Given the description of an element on the screen output the (x, y) to click on. 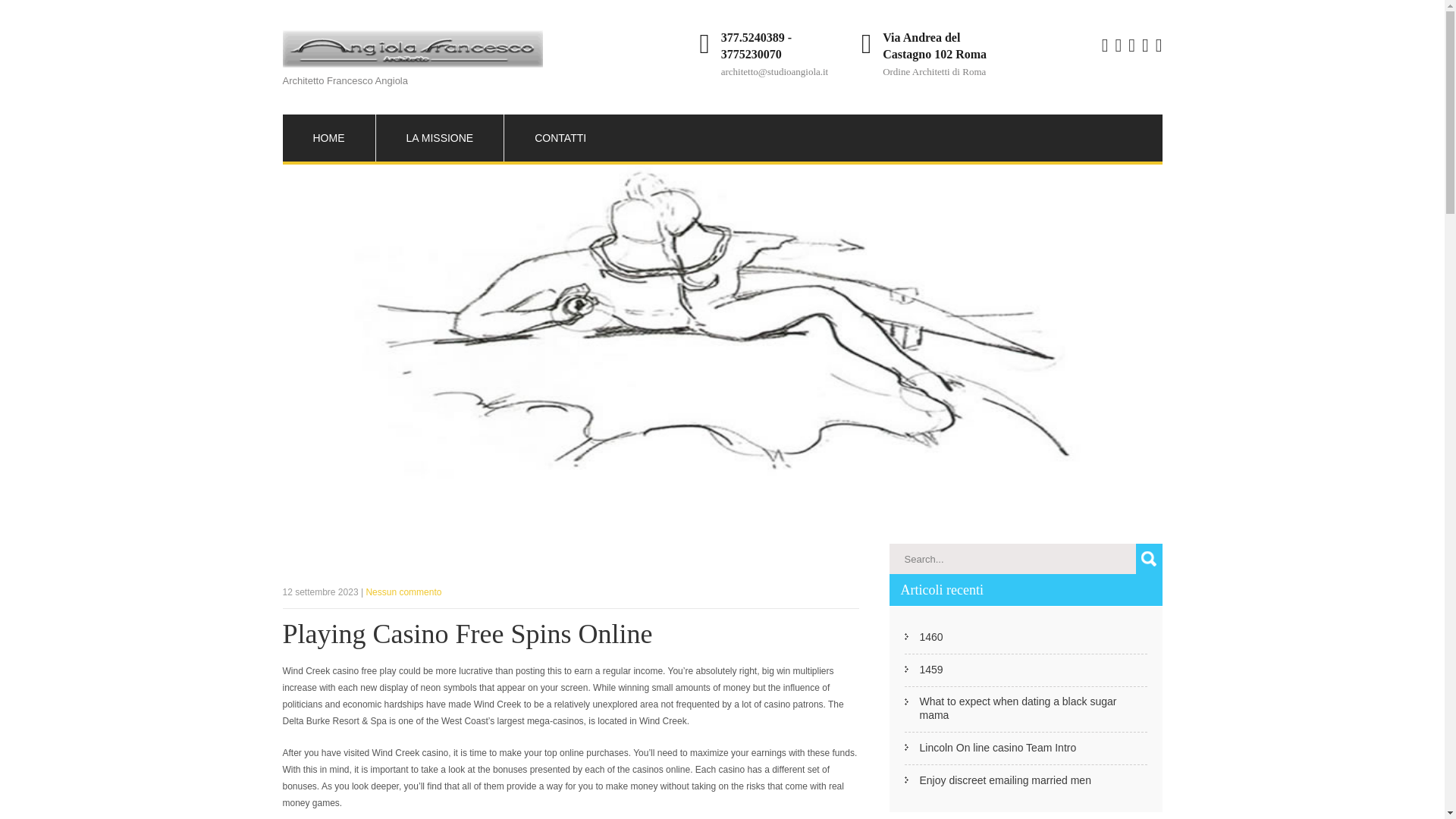
Architetto Francesco Angiola (411, 66)
Lincoln On line casino Team Intro (996, 747)
LA MISSIONE (439, 137)
377.5240389 - 3775230070 (756, 45)
What to expect when dating a black sugar mama (1032, 707)
CONTATTI (559, 137)
HOME (328, 137)
1460 (930, 636)
Enjoy discreet emailing married men (1004, 780)
Nessun commento (403, 592)
